Given the description of an element on the screen output the (x, y) to click on. 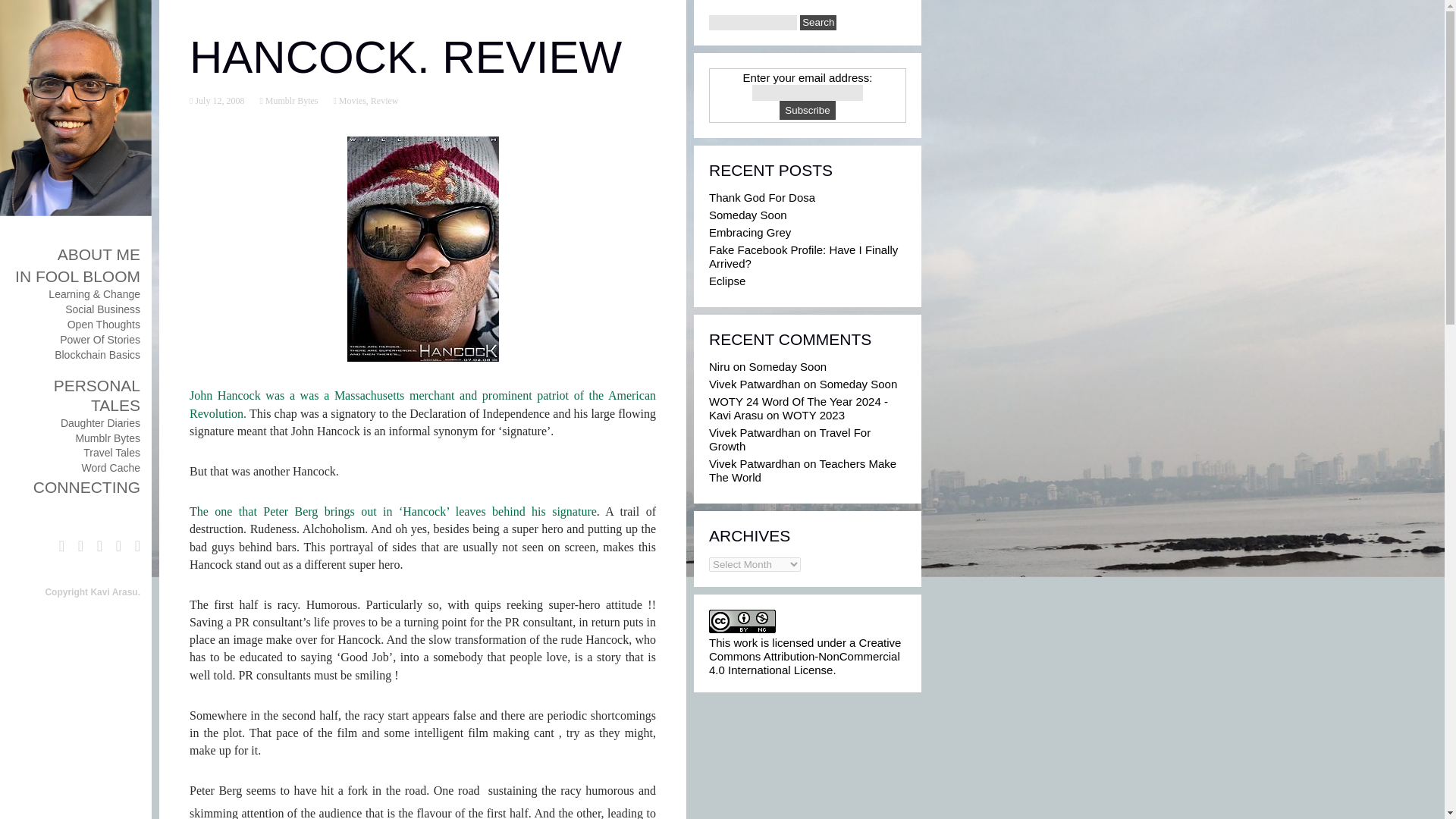
John Hancock was a was a (261, 395)
Mumblr Bytes (107, 438)
Open Thoughts (102, 324)
Social Business (102, 309)
Daughter Diaries (100, 422)
Massachusetts (369, 395)
American Revolution (422, 404)
ABOUT ME (98, 253)
Power Of Stories (99, 339)
PERSONAL TALES (96, 394)
